Given the description of an element on the screen output the (x, y) to click on. 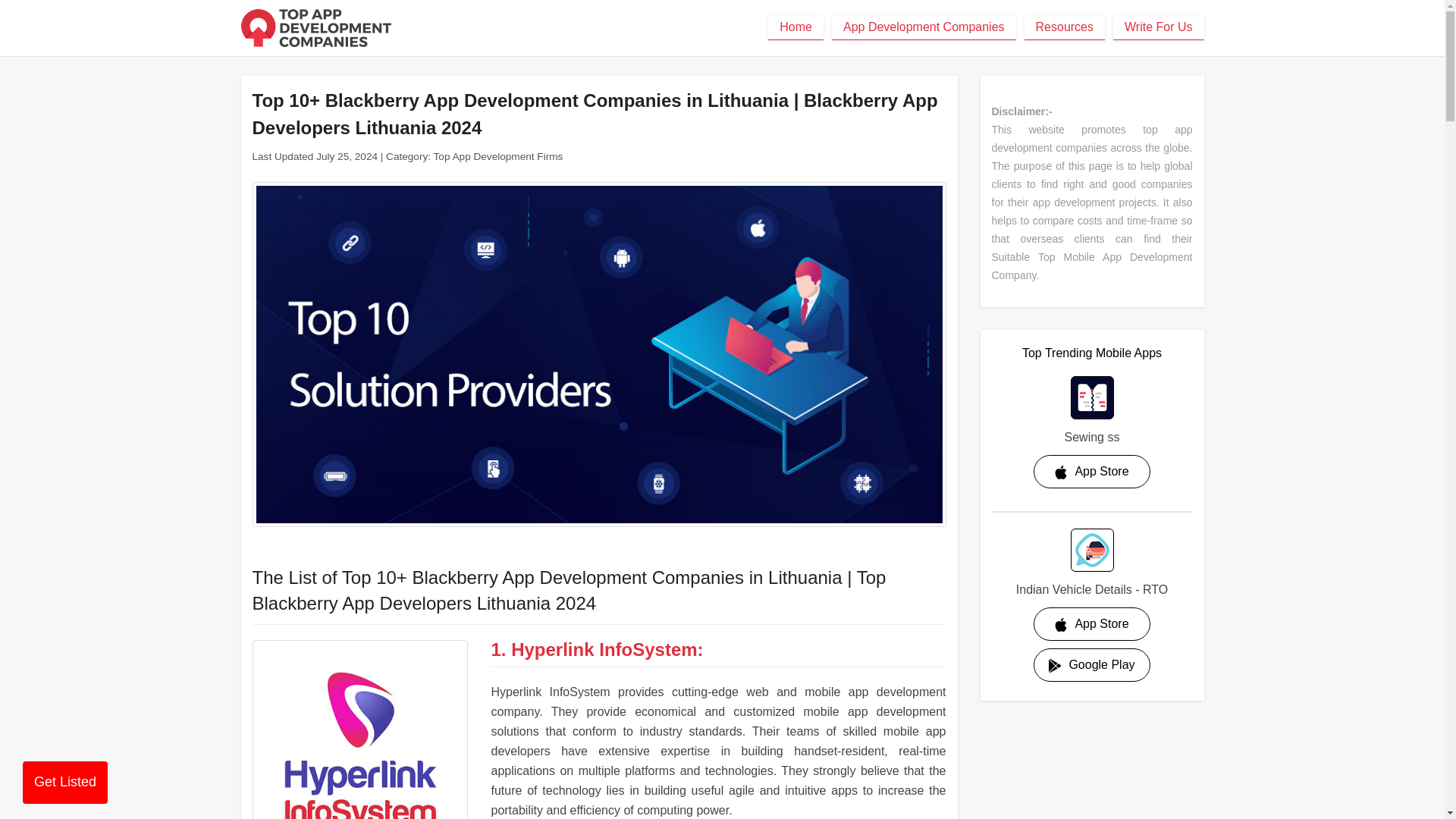
Resources (1065, 27)
Write For Us (1158, 27)
App Development Companies (923, 27)
Hyperlink InfoSystem (604, 649)
Hyperlink InfoSystem (359, 729)
Home (796, 27)
